Given the description of an element on the screen output the (x, y) to click on. 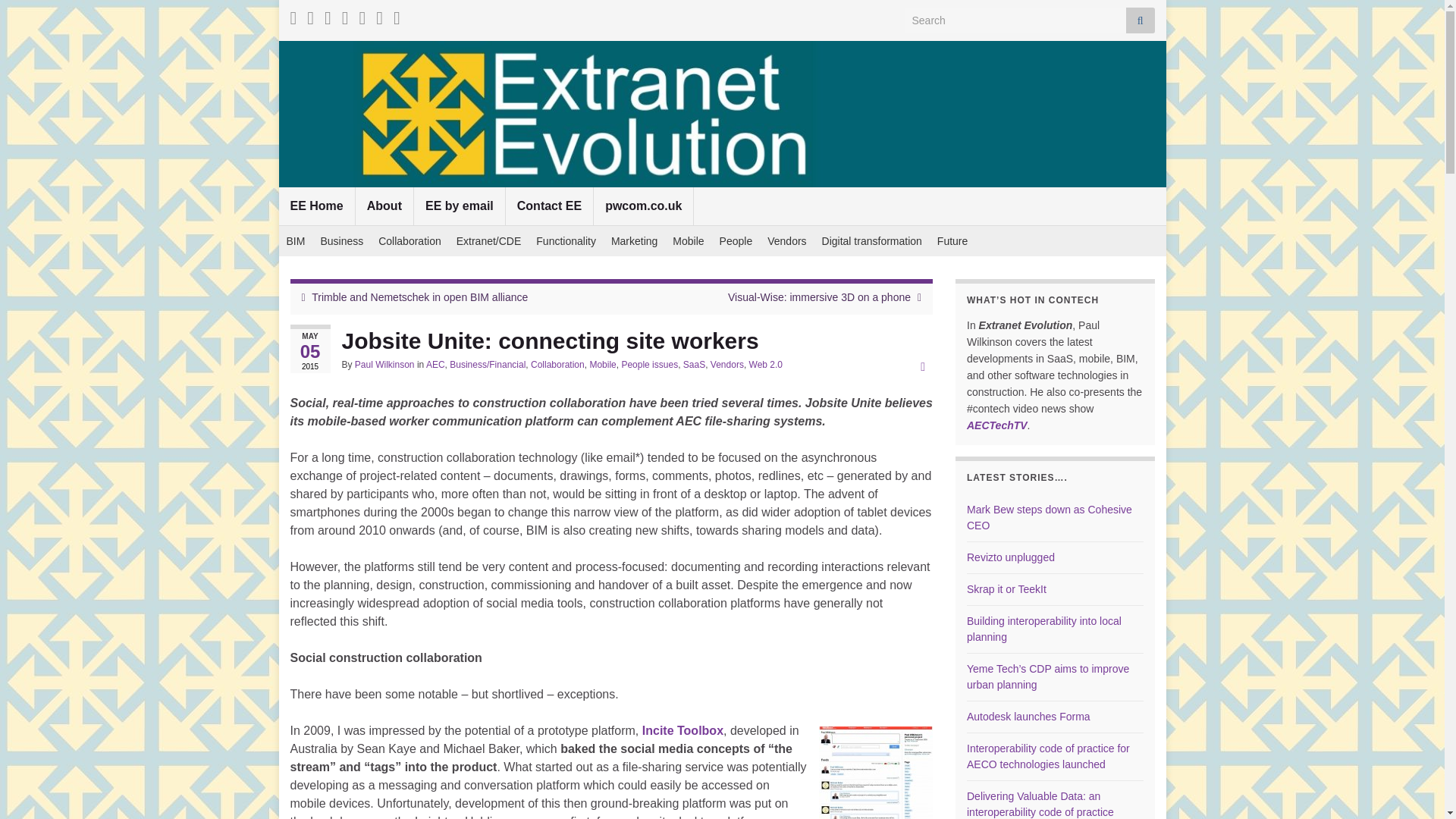
Collaboration (558, 364)
Business (342, 241)
Digital transformation (871, 241)
blog home page (317, 206)
Marketing (634, 241)
Paul Wilkinson (384, 364)
BIM (296, 241)
AEC (435, 364)
SaaS (693, 364)
Visual-Wise: immersive 3D on a phone (819, 297)
EE Home (317, 206)
Web 2.0 (766, 364)
People (735, 241)
about Paul Wilkinson (384, 206)
Mobile (688, 241)
